Given the description of an element on the screen output the (x, y) to click on. 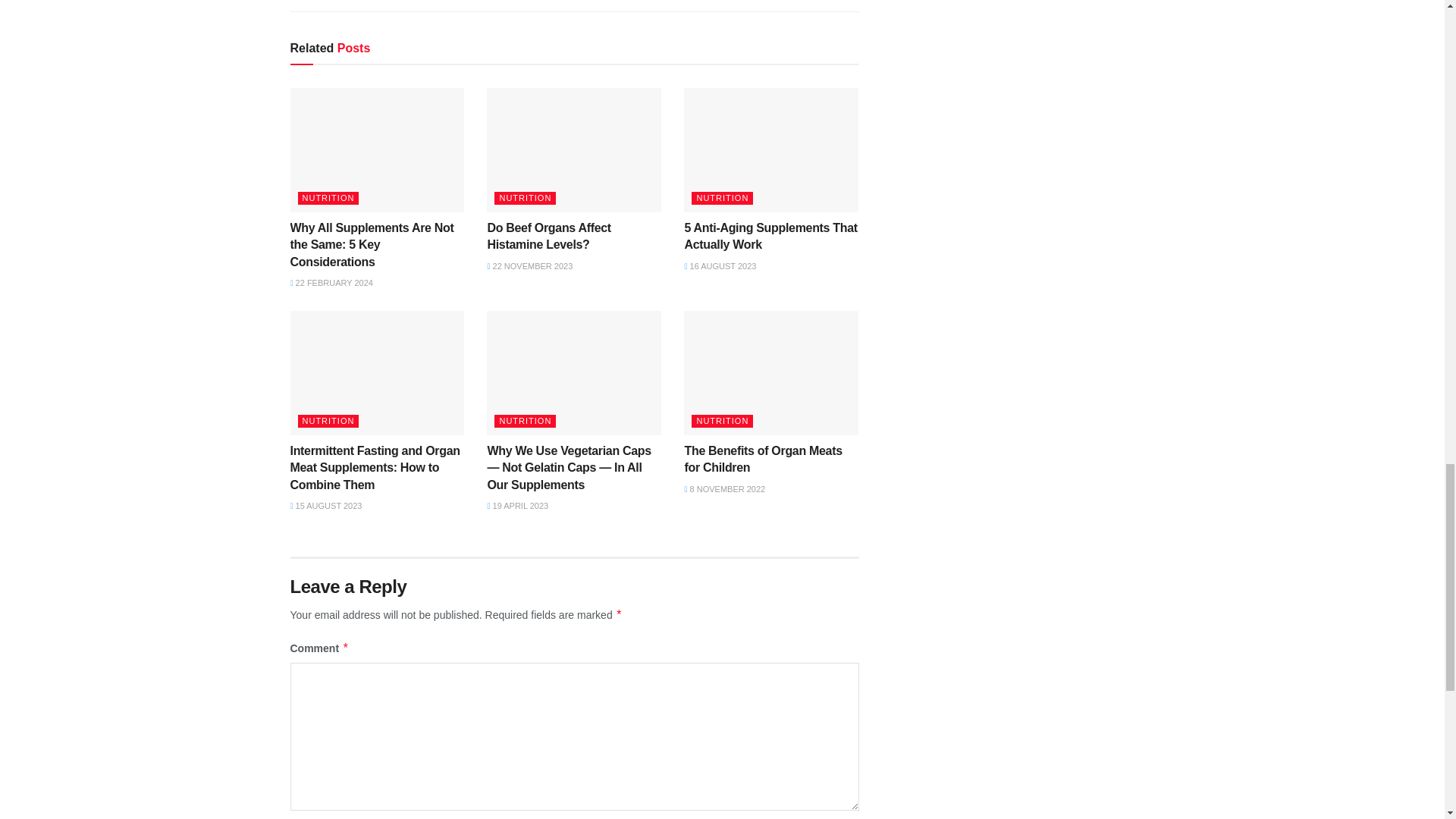
Do Beef Organs Affect Histamine Levels? (548, 235)
22 NOVEMBER 2023 (529, 266)
NUTRITION (525, 197)
Why All Supplements Are Not the Same: 5 Key Considerations (370, 244)
NUTRITION (327, 197)
22 FEBRUARY 2024 (330, 282)
